Given the description of an element on the screen output the (x, y) to click on. 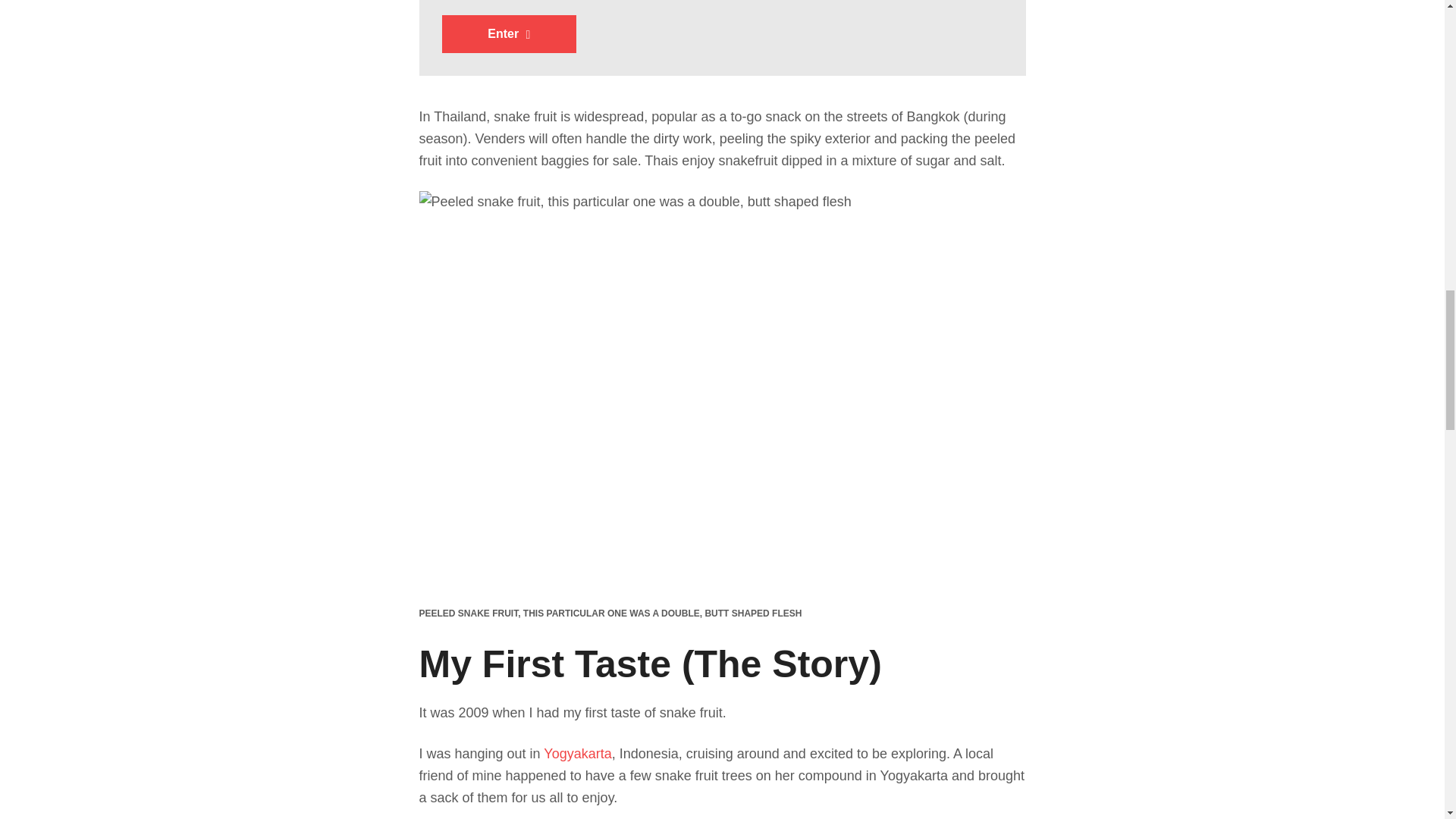
Yogyakarta (577, 753)
Enter (508, 34)
Yogyakarta (577, 753)
